Given the description of an element on the screen output the (x, y) to click on. 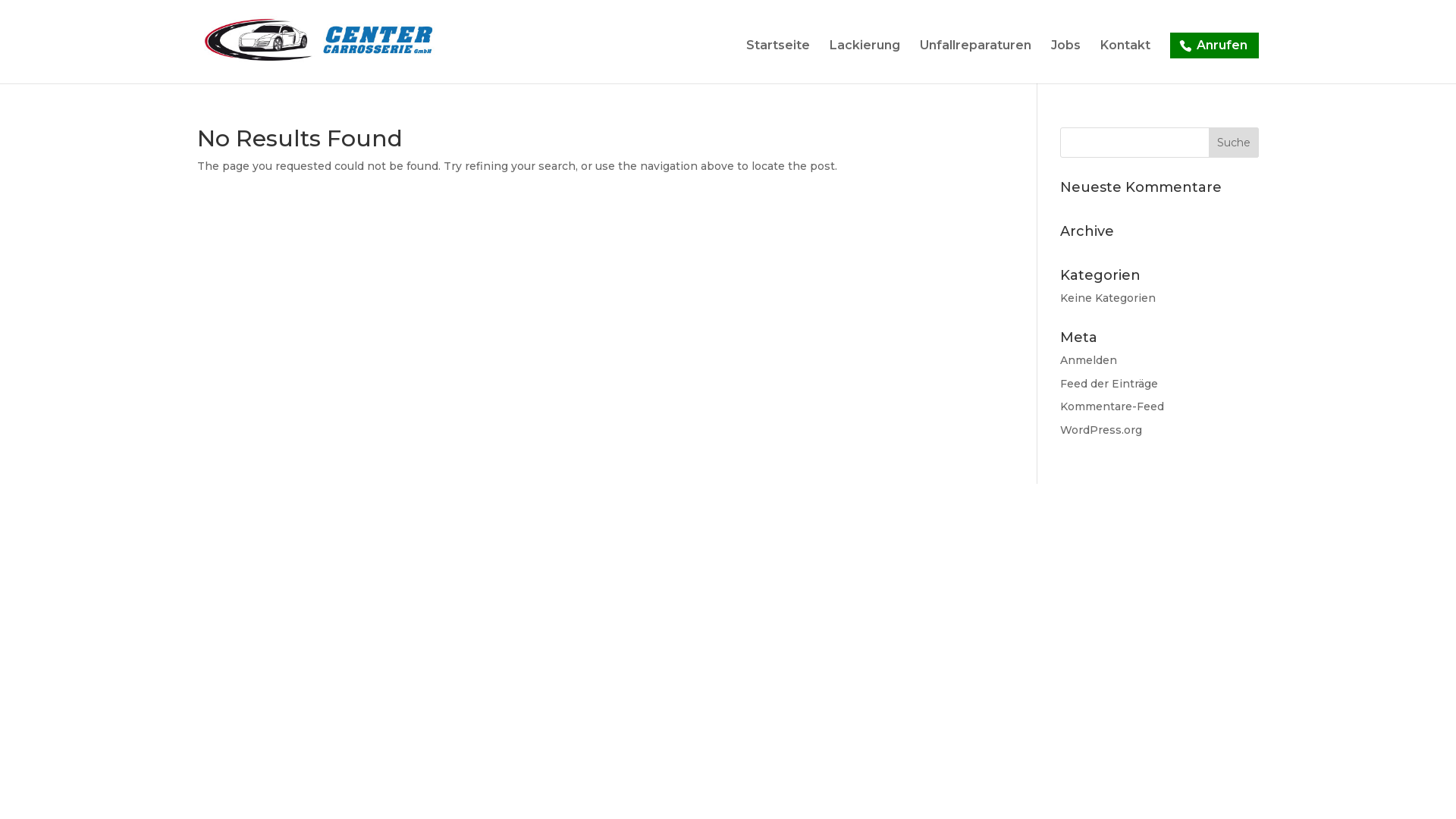
Unfallreparaturen Element type: text (975, 61)
Lackierung Element type: text (864, 61)
Kontakt Element type: text (1125, 61)
Suche Element type: text (1233, 142)
Anrufen Element type: text (1214, 45)
Jobs Element type: text (1065, 61)
Startseite Element type: text (777, 61)
WordPress.org Element type: text (1101, 429)
Kommentare-Feed Element type: text (1112, 406)
Anmelden Element type: text (1088, 360)
